Given the description of an element on the screen output the (x, y) to click on. 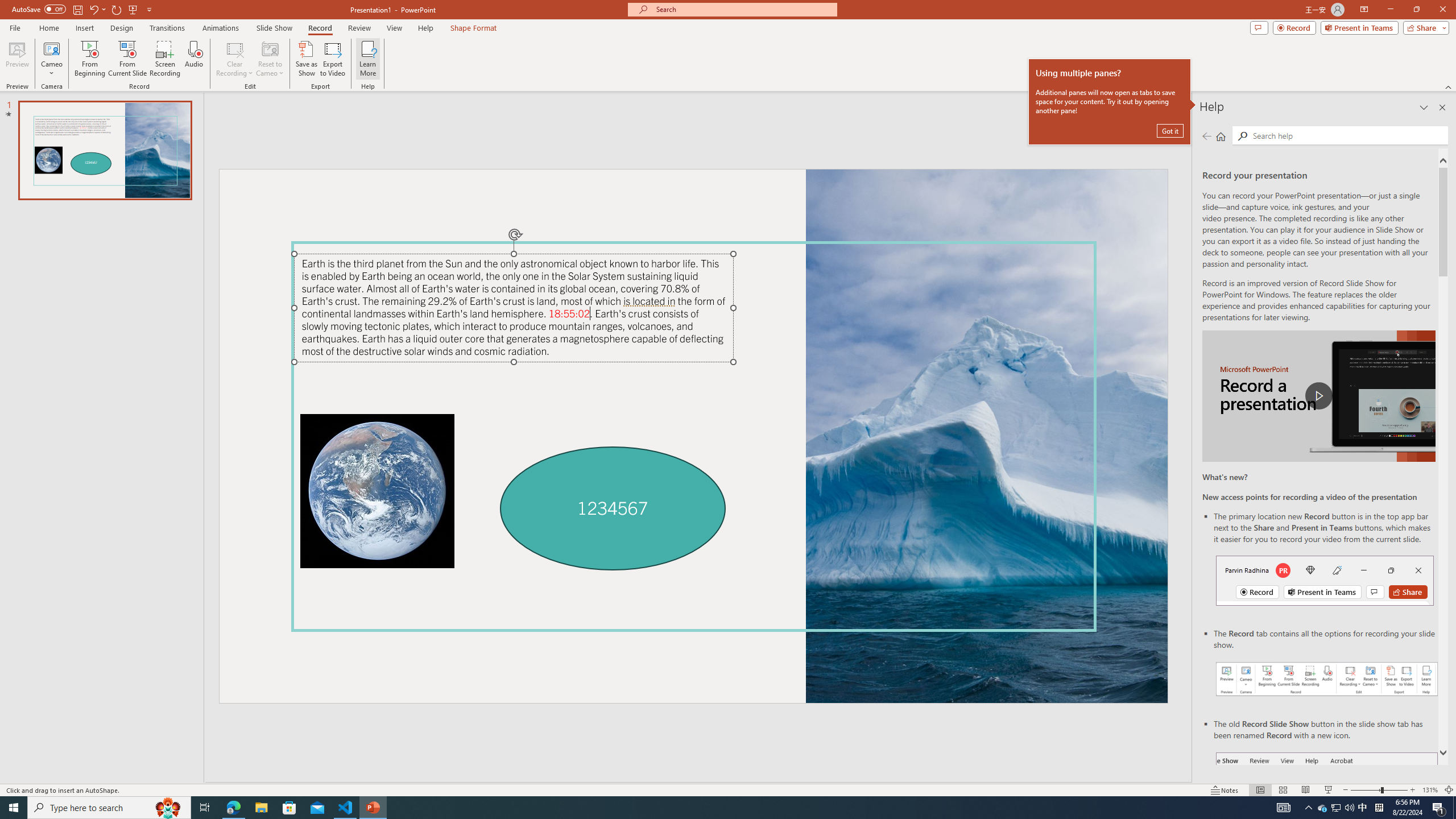
Record your presentations screenshot one (1326, 678)
Record button in top bar (1324, 580)
